Given the description of an element on the screen output the (x, y) to click on. 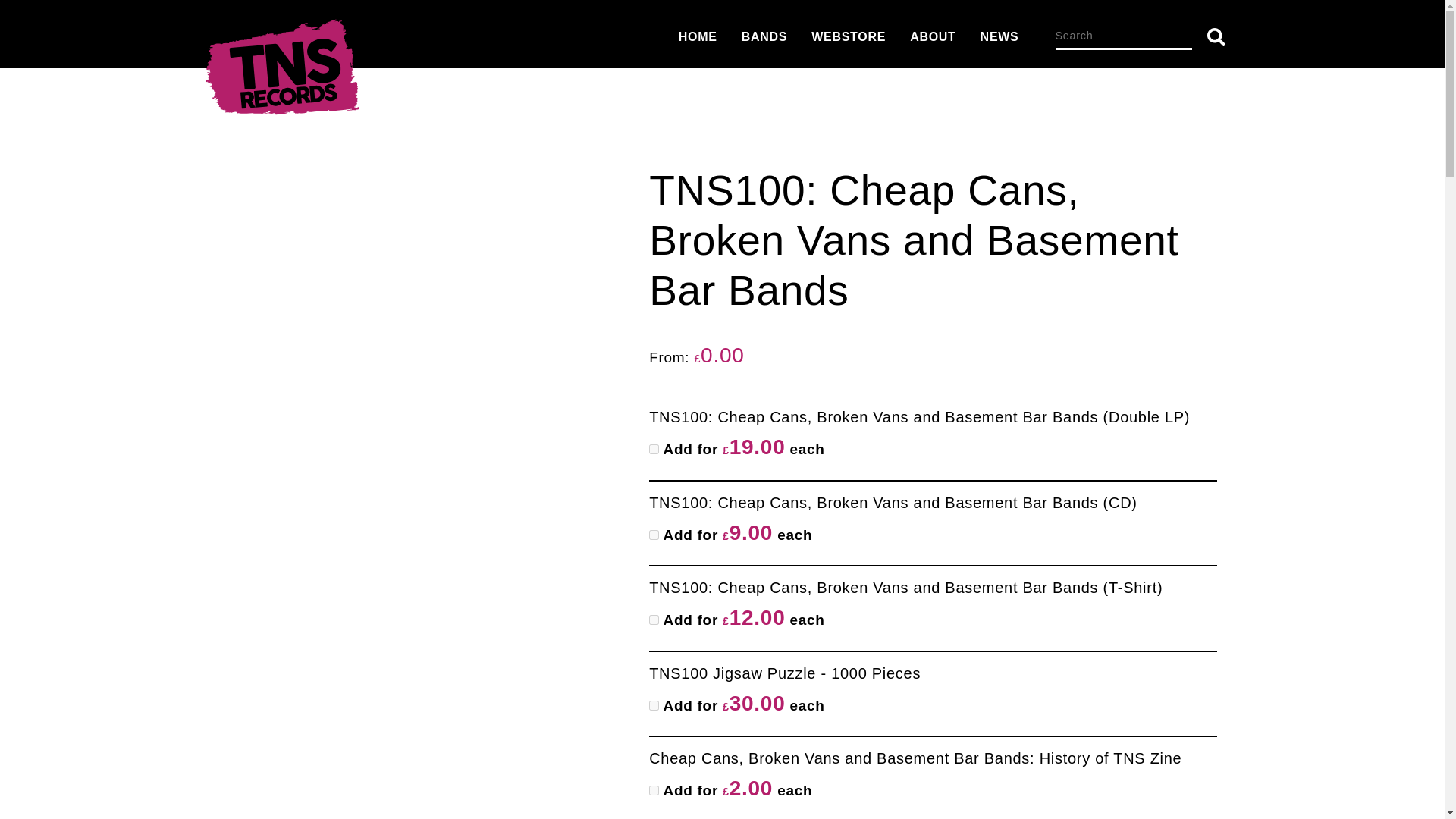
TNSrecords Home (280, 70)
WEBSTORE (847, 36)
HOME (697, 36)
ABOUT (932, 36)
BANDS (764, 36)
NEWS (999, 36)
